Given the description of an element on the screen output the (x, y) to click on. 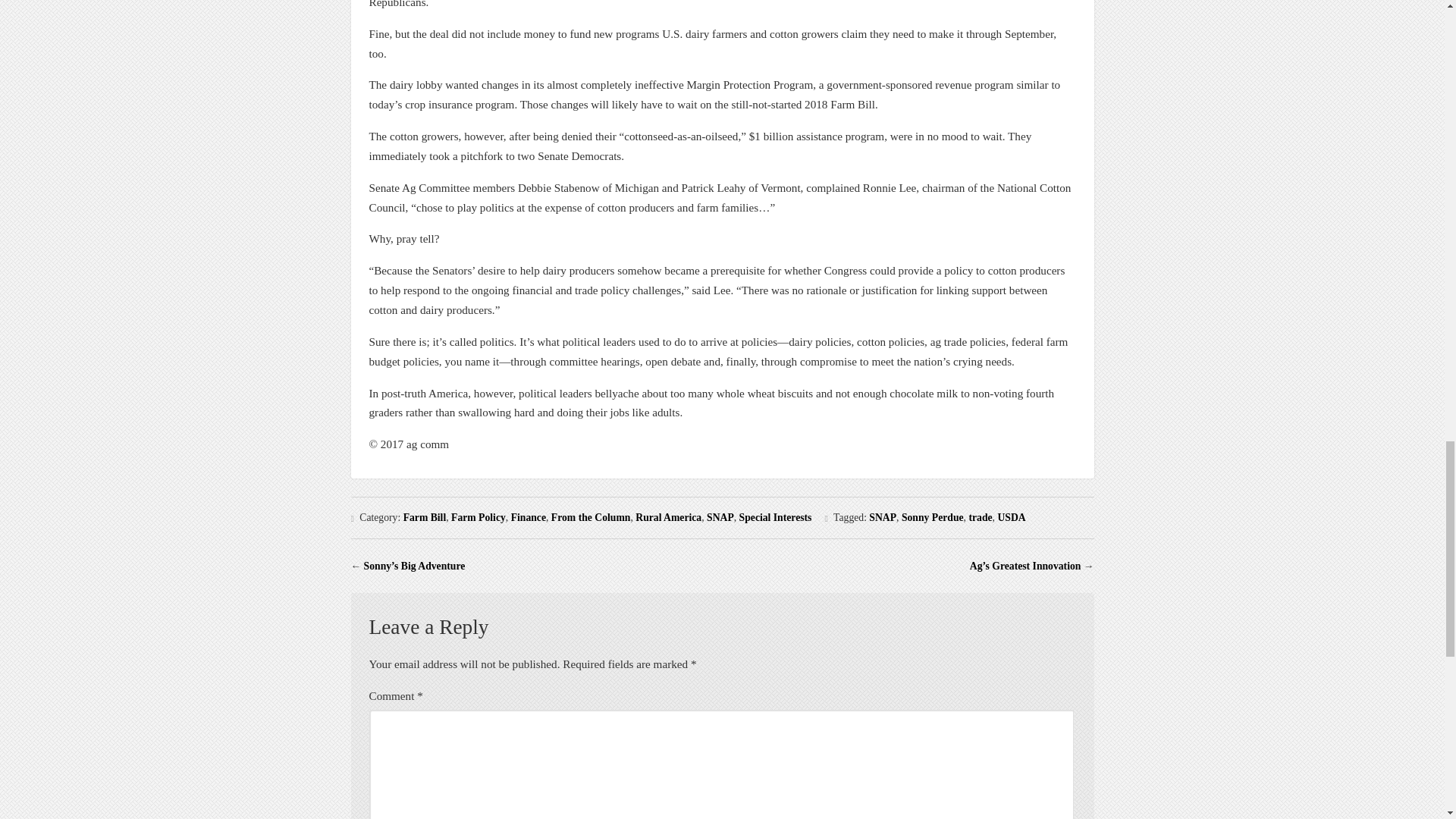
Farm Bill (424, 517)
Rural America (667, 517)
Finance (528, 517)
Sonny Perdue (932, 517)
Farm Policy (478, 517)
SNAP (882, 517)
SNAP (719, 517)
trade (979, 517)
From the Column (590, 517)
Special Interests (775, 517)
